Given the description of an element on the screen output the (x, y) to click on. 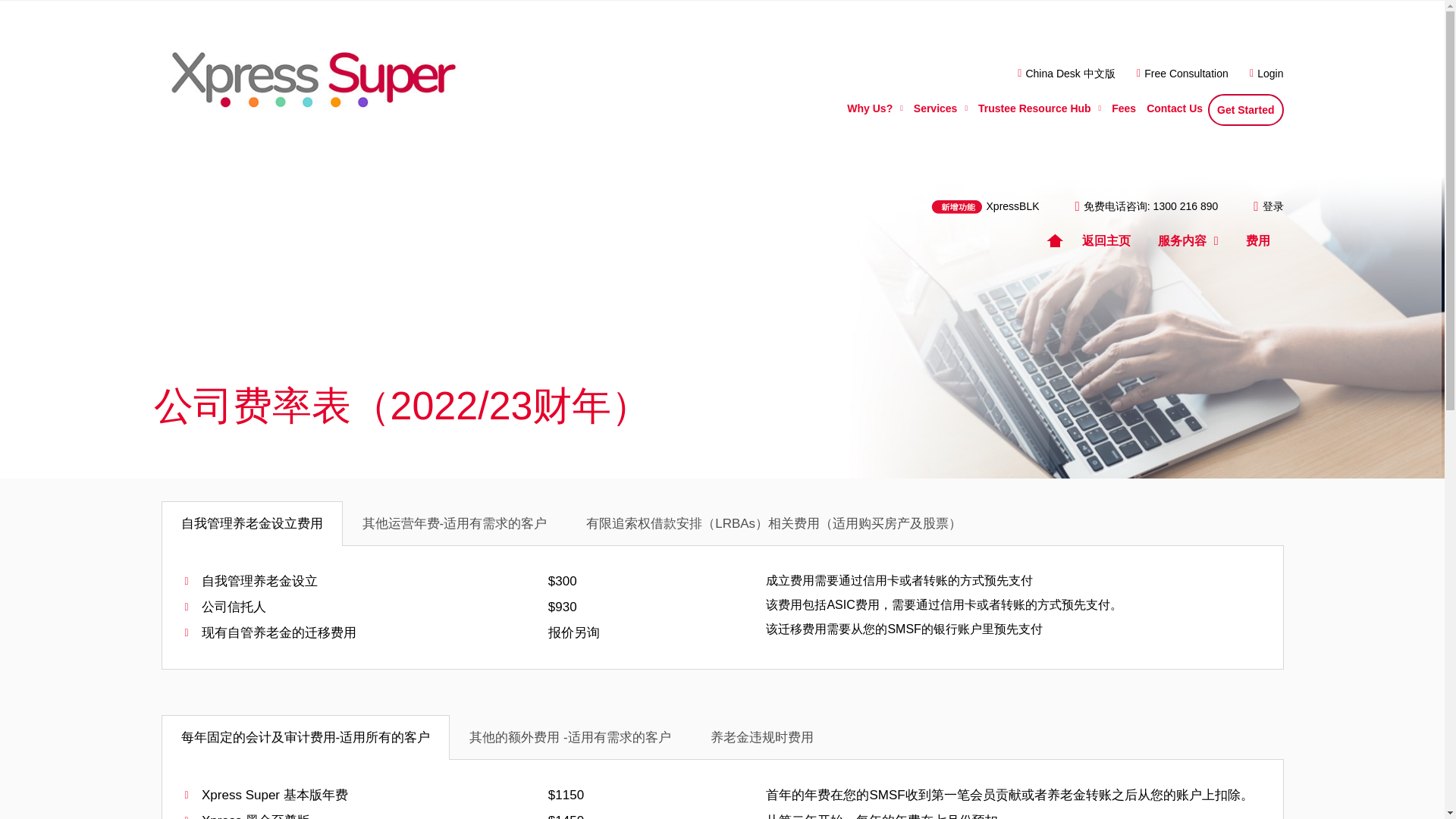
Fees (1123, 108)
Why Us? (874, 108)
Services (940, 108)
Trustee Resource Hub (1039, 108)
Get Started (1245, 110)
Contact Us (1174, 108)
Free Consultation (1177, 73)
Login (1262, 73)
